Given the description of an element on the screen output the (x, y) to click on. 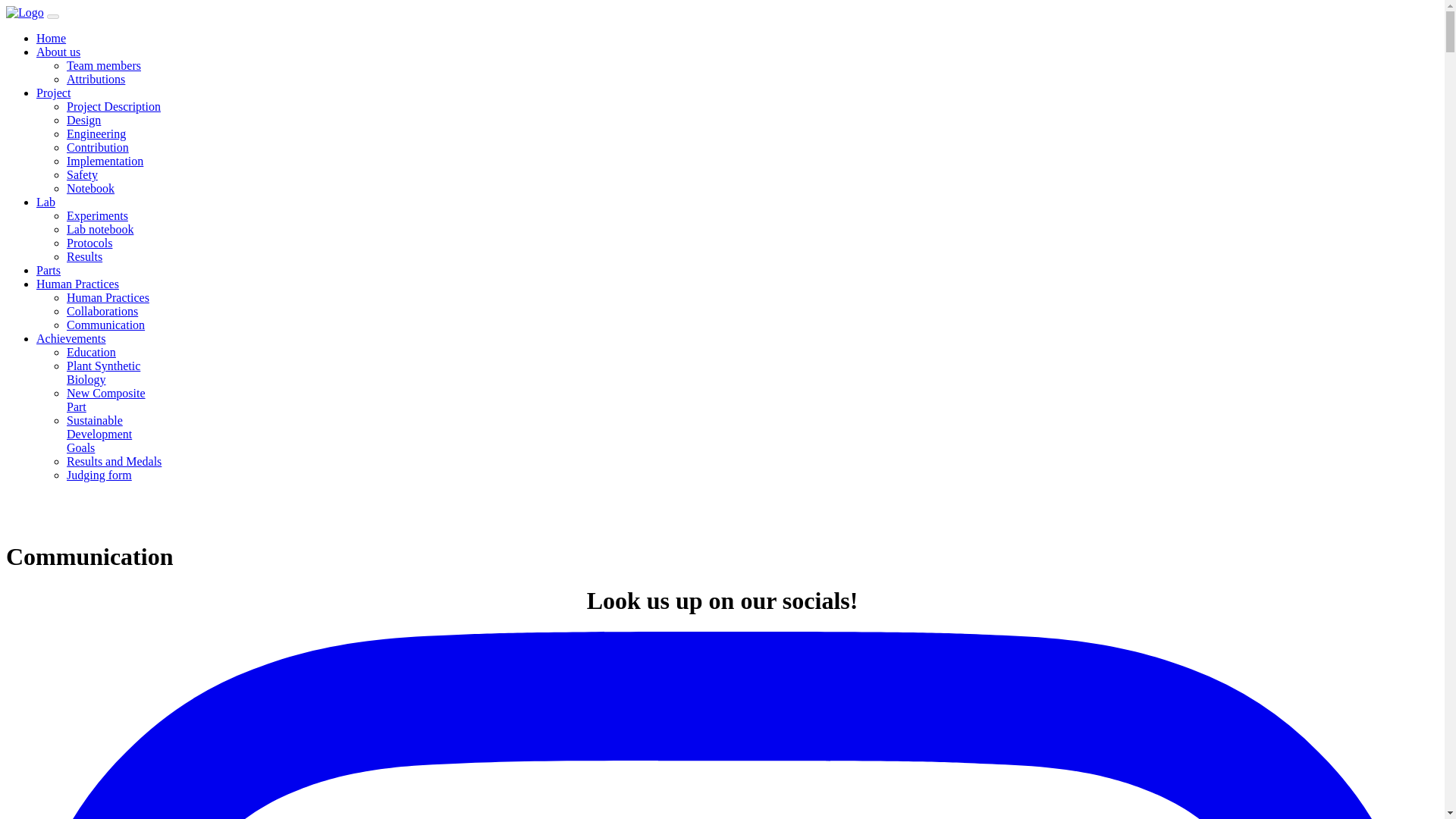
Human Practices (107, 297)
Project (52, 92)
Lab notebook (99, 228)
Safety (81, 174)
Attributions (95, 78)
Implementation (104, 160)
Experiments (97, 215)
Education (91, 351)
Results (83, 256)
Lab (45, 201)
